Given the description of an element on the screen output the (x, y) to click on. 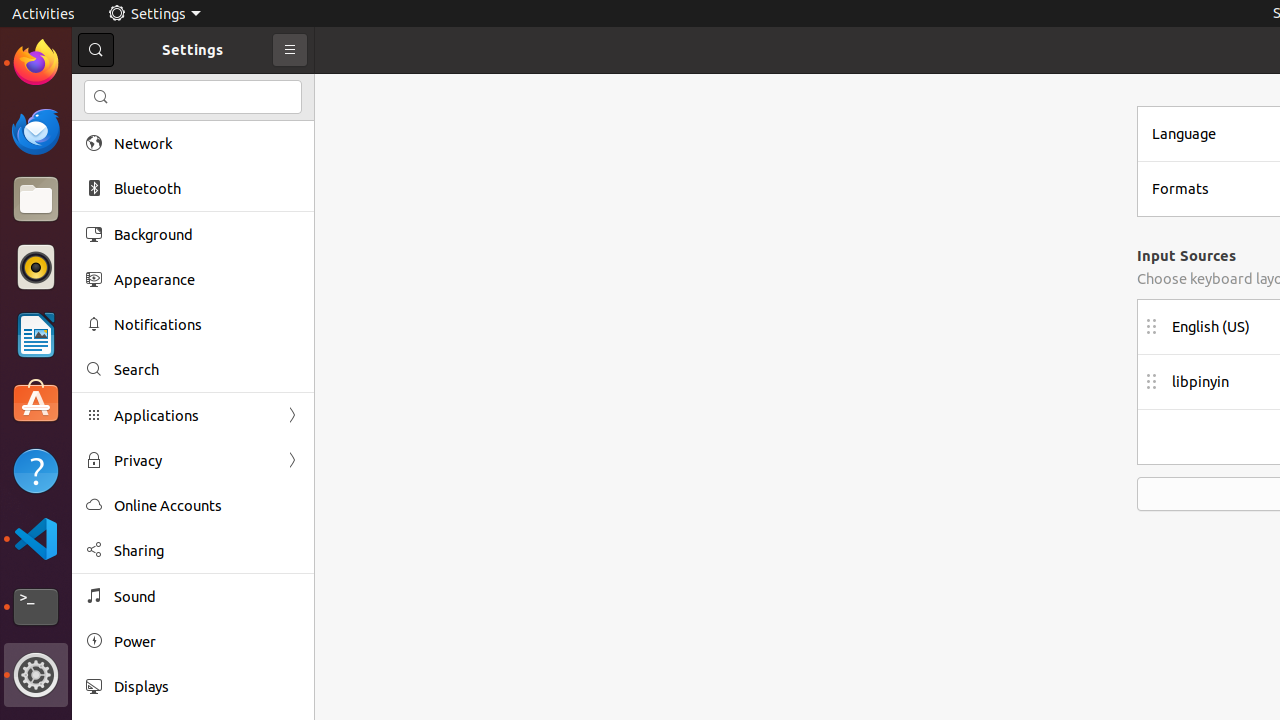
edit-find-symbolic Element type: icon (101, 97)
Online Accounts Element type: label (207, 505)
Terminal Element type: push-button (36, 607)
Background Element type: label (207, 234)
